Given the description of an element on the screen output the (x, y) to click on. 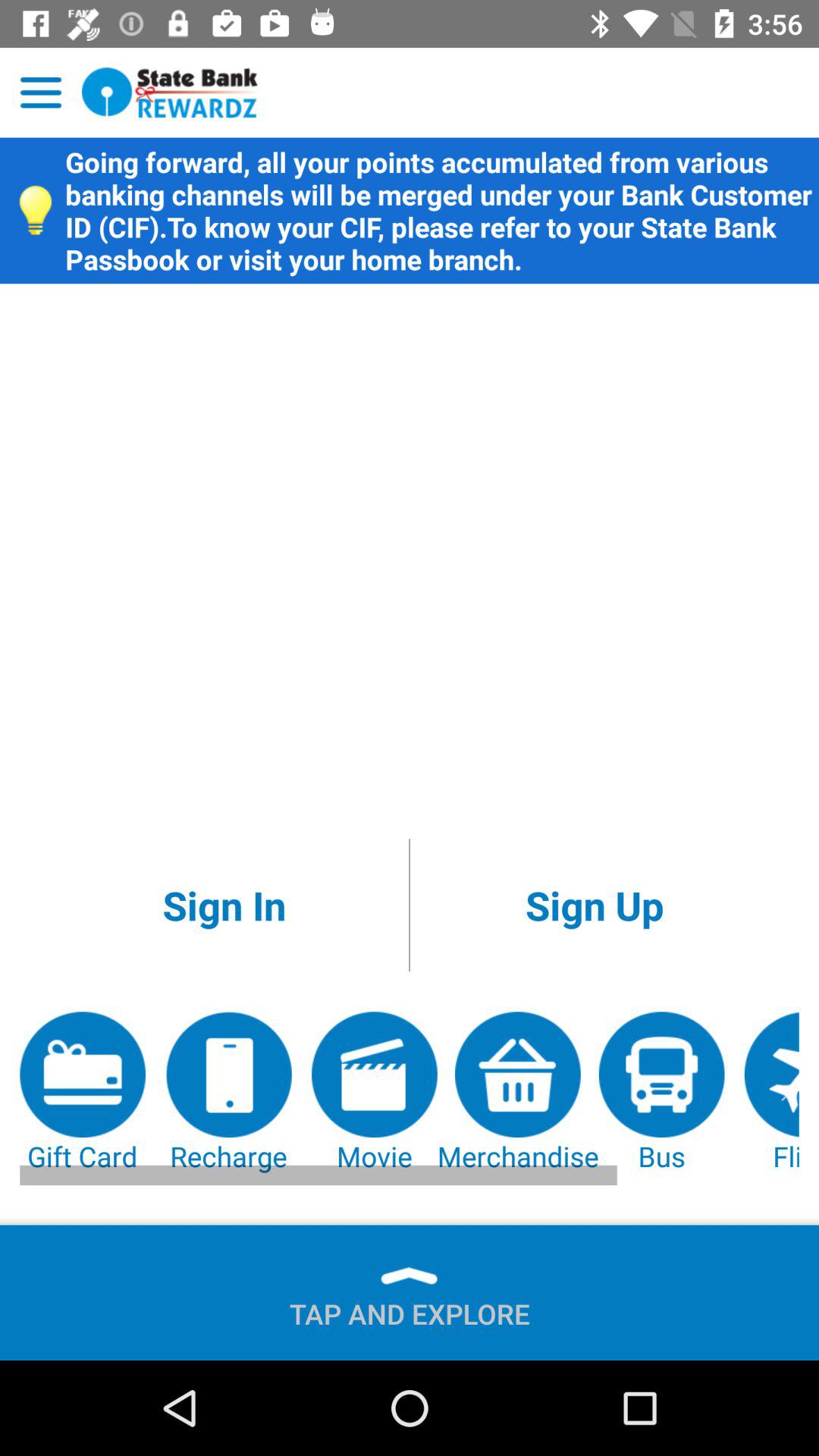
go to the menu (40, 92)
